Given the description of an element on the screen output the (x, y) to click on. 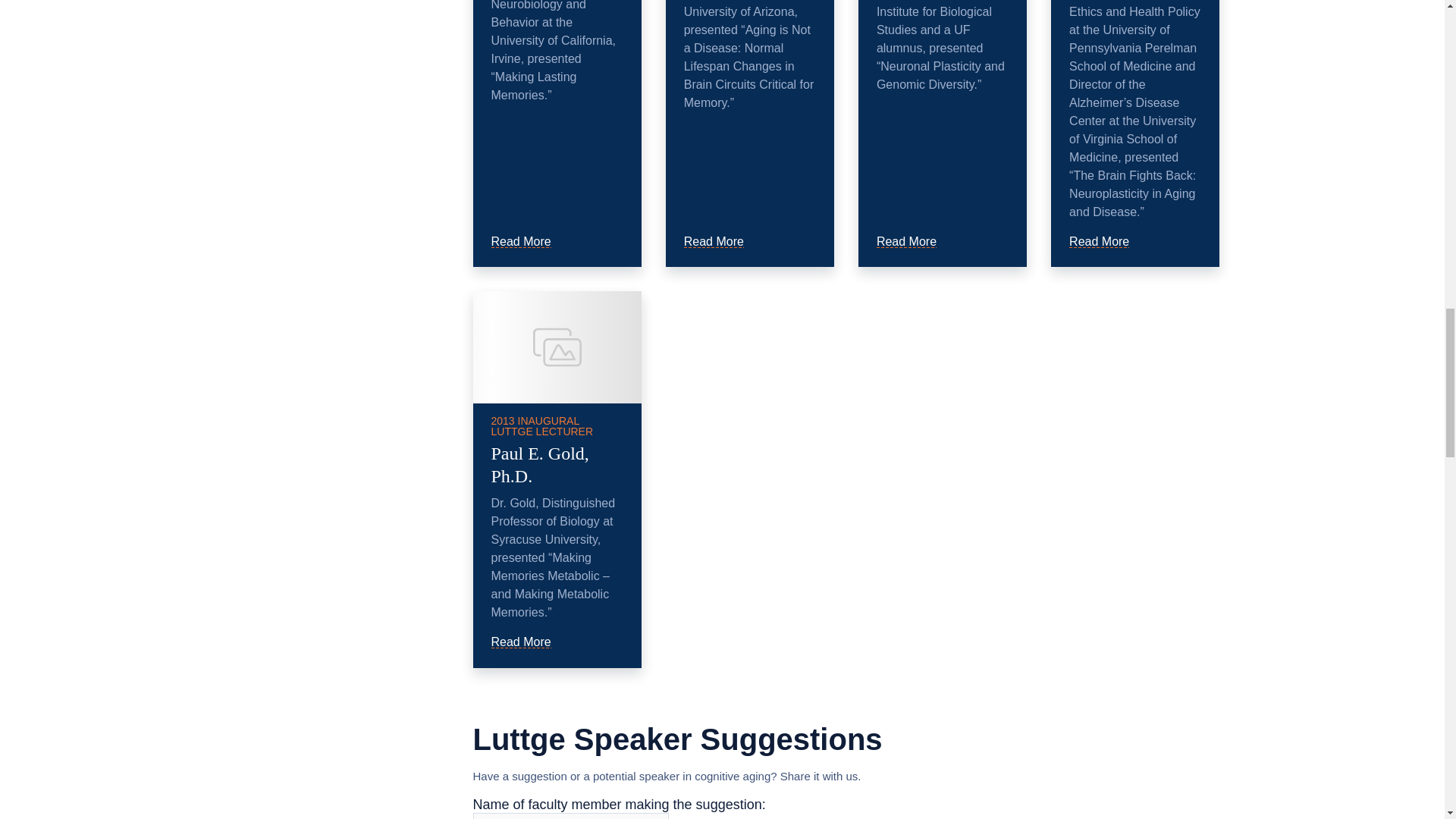
Read More (914, 241)
Read More (1106, 241)
Read More (529, 241)
Read More (529, 641)
Read More (721, 241)
